Given the description of an element on the screen output the (x, y) to click on. 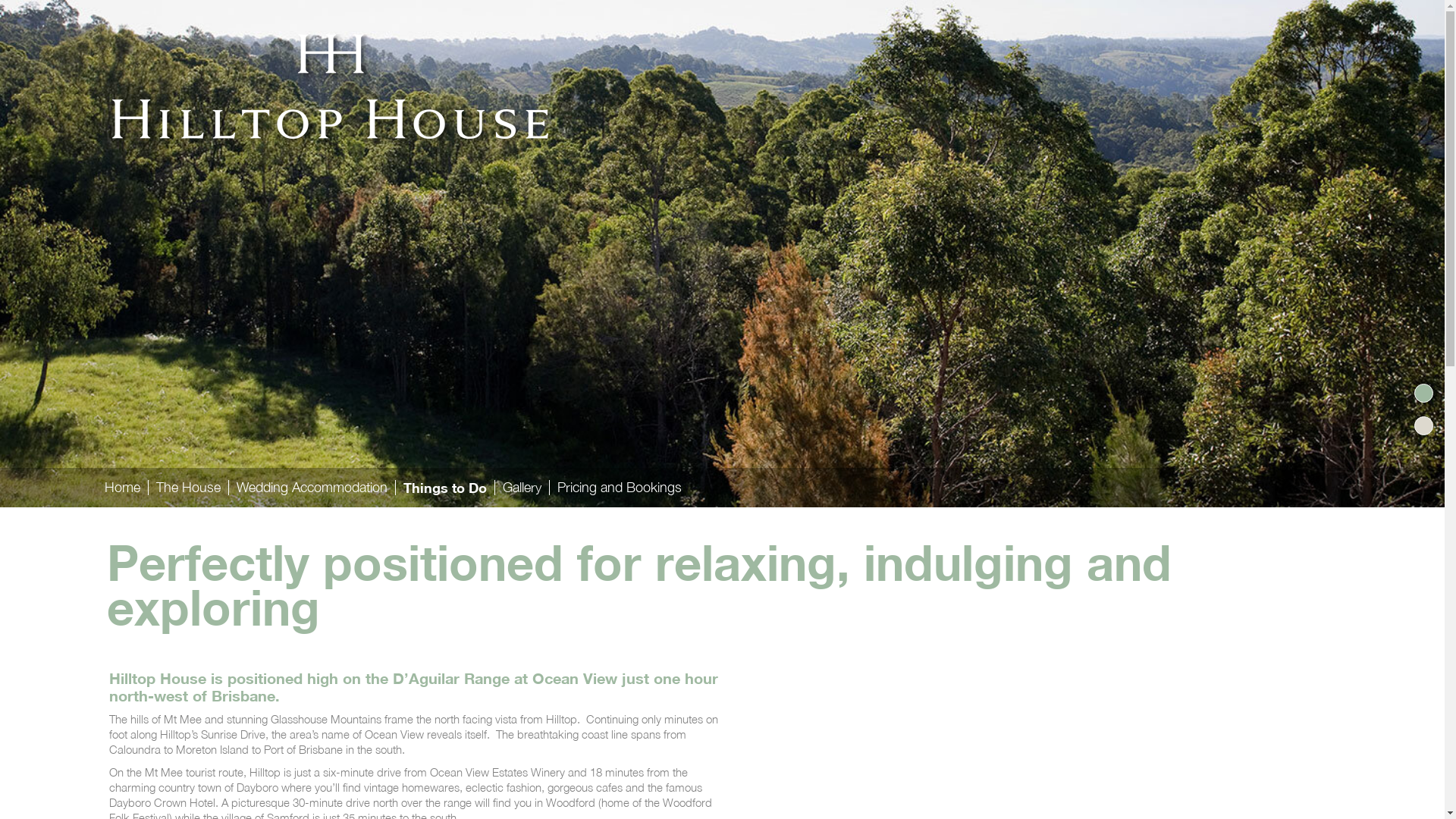
Pricing and Bookings Element type: text (618, 487)
Home Element type: text (122, 487)
Gallery Element type: text (521, 487)
Things to Do Element type: text (444, 487)
Wedding Accommodation Element type: text (311, 487)
The House Element type: text (188, 487)
